Given the description of an element on the screen output the (x, y) to click on. 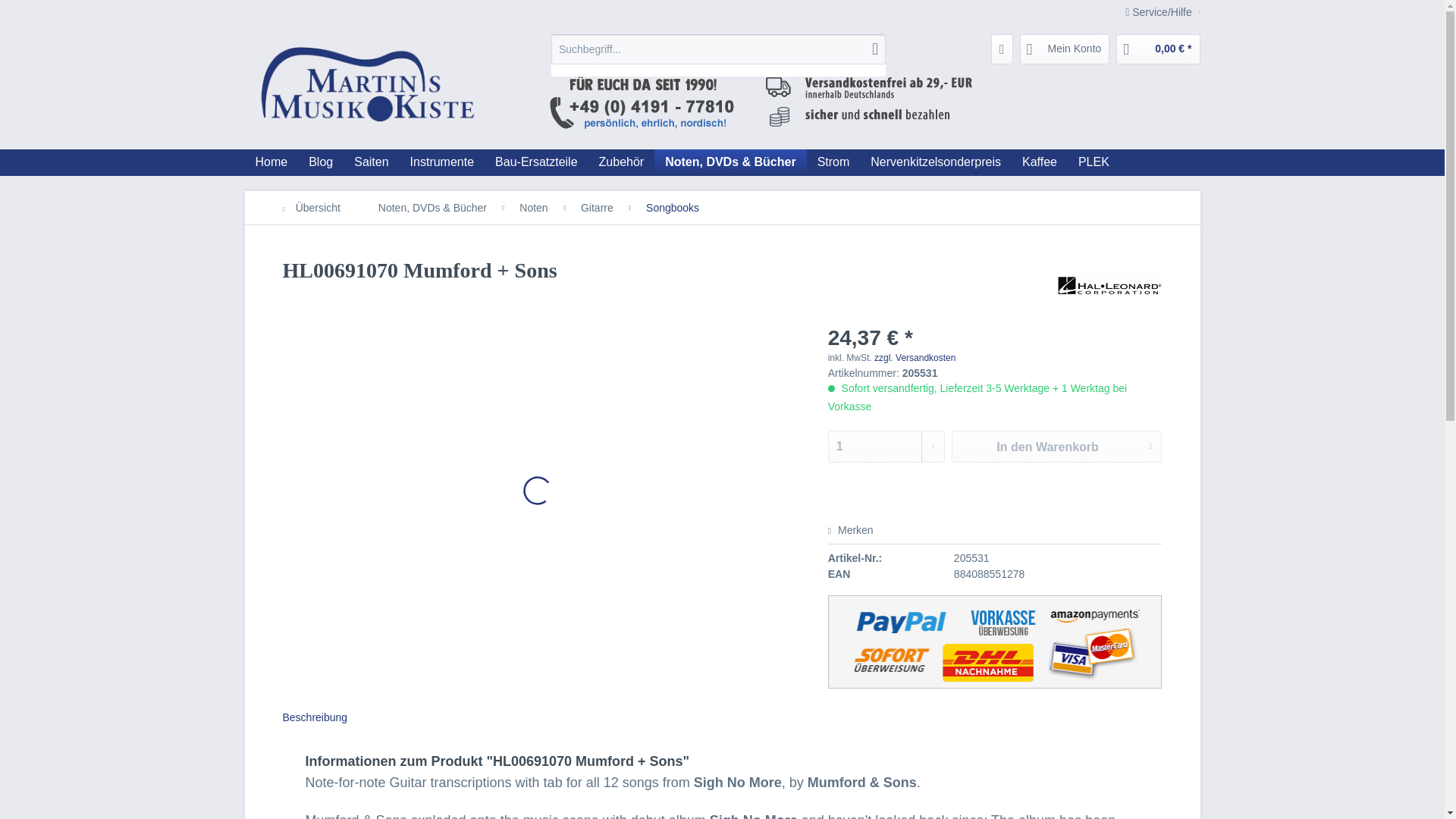
Blog (320, 162)
Mein Konto (1064, 49)
Warenkorb (1157, 49)
Saiten (370, 162)
Strom (833, 162)
Kaffee (1039, 162)
Blog (320, 162)
Home (271, 162)
Bau-Ersatzteile (536, 162)
Nervenkitzelsonderpreis (935, 162)
Instrumente (441, 162)
Saiten (370, 162)
Instrumente (441, 162)
Mein Konto (1064, 49)
martinsmusikkiste Martin Hense - zur Startseite wechseln (365, 87)
